Given the description of an element on the screen output the (x, y) to click on. 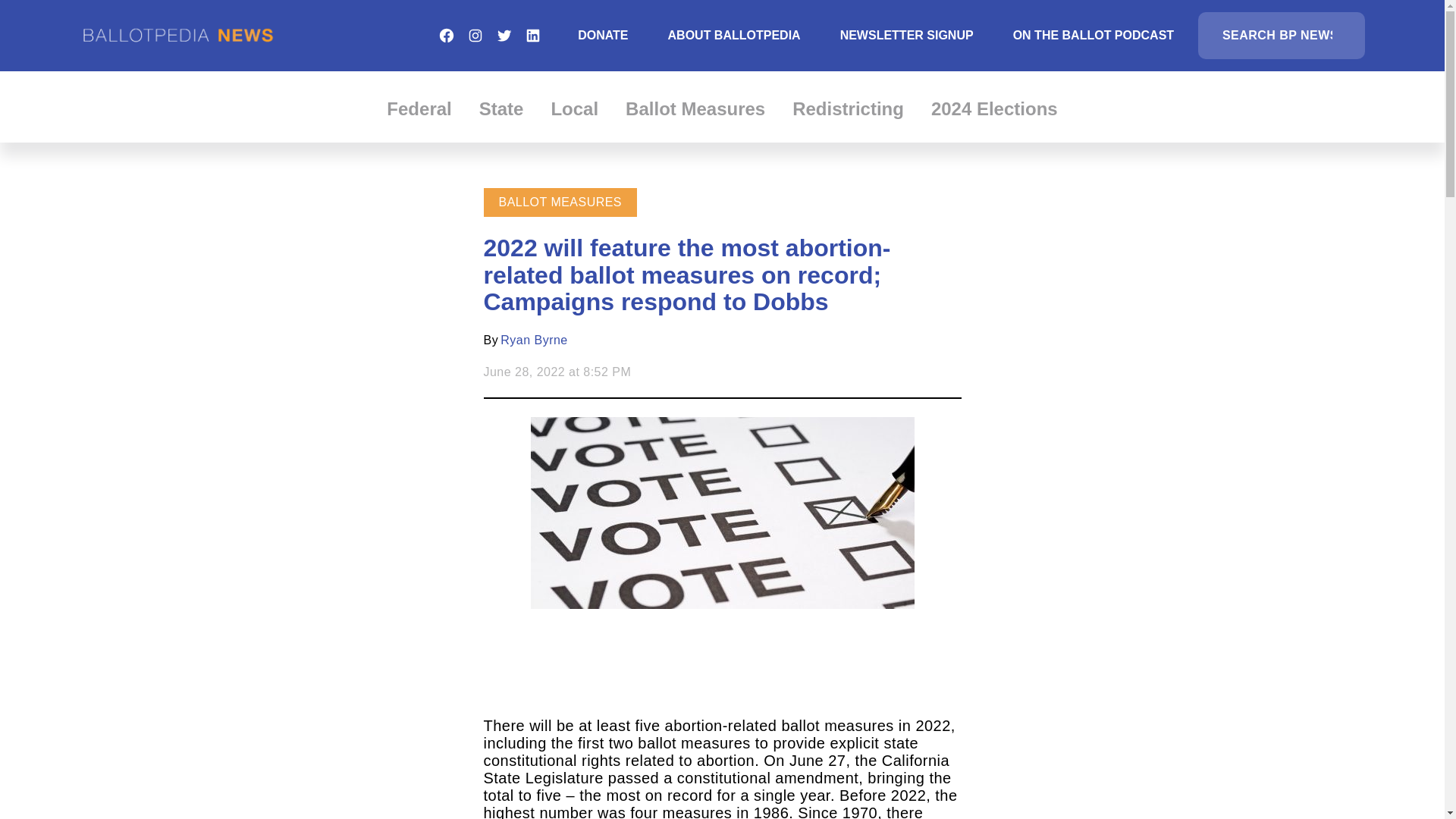
LinkedIn (532, 35)
Twitter (504, 35)
State (501, 108)
ON THE BALLOT PODCAST (1093, 35)
DONATE (602, 35)
ABOUT BALLOTPEDIA (734, 35)
Ryan Byrne (533, 339)
Ballot Measures (695, 108)
BALLOT MEASURES (561, 201)
NEWSLETTER SIGNUP (906, 35)
